Given the description of an element on the screen output the (x, y) to click on. 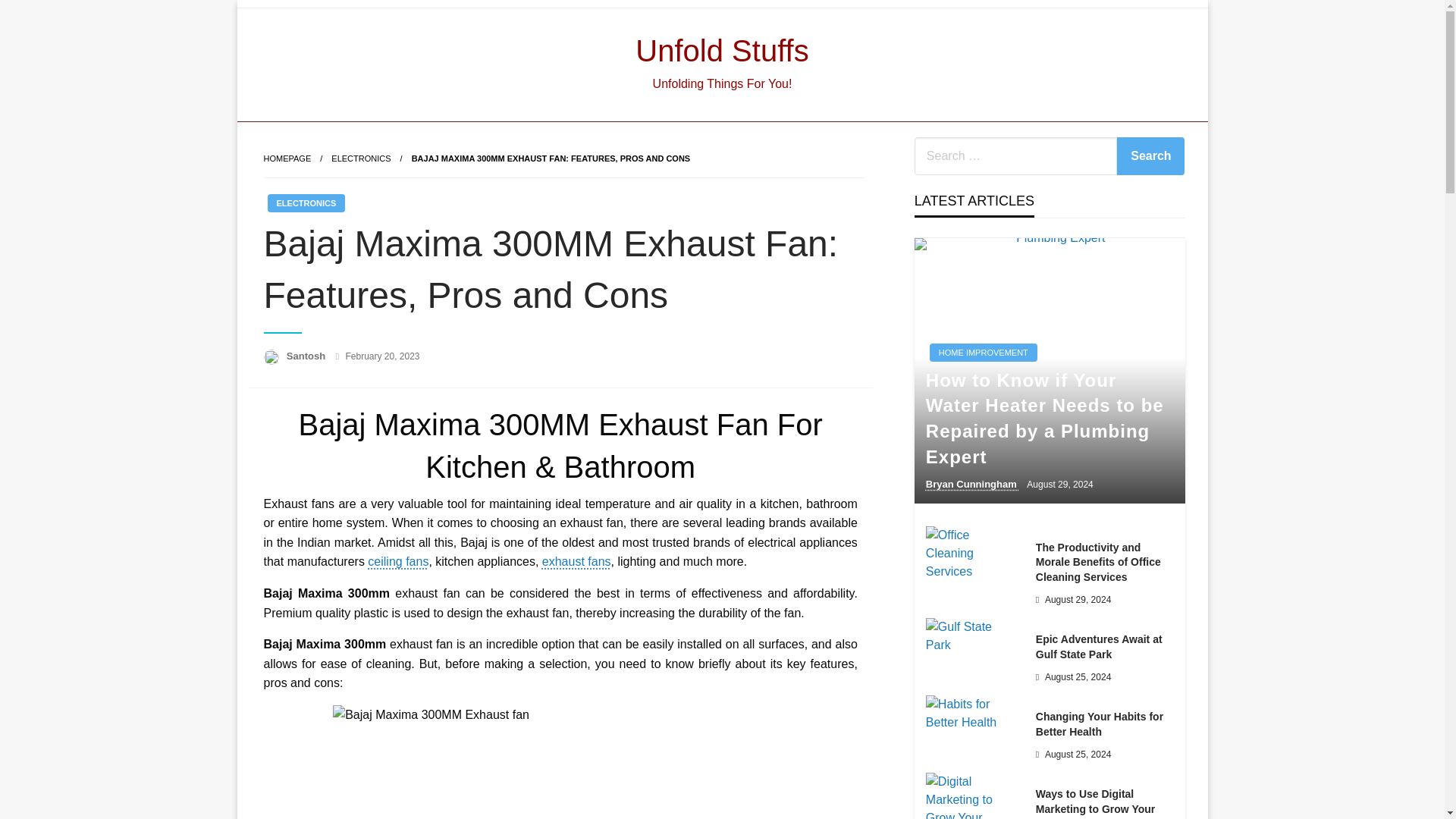
Homepage (287, 157)
Search (1150, 156)
Bajaj Maxima 300MM Exhaust Fan: Features, Pros and Cons (551, 157)
Search (1150, 156)
Santosh (307, 355)
Electronics (360, 157)
Unfold Stuffs (721, 50)
